Given the description of an element on the screen output the (x, y) to click on. 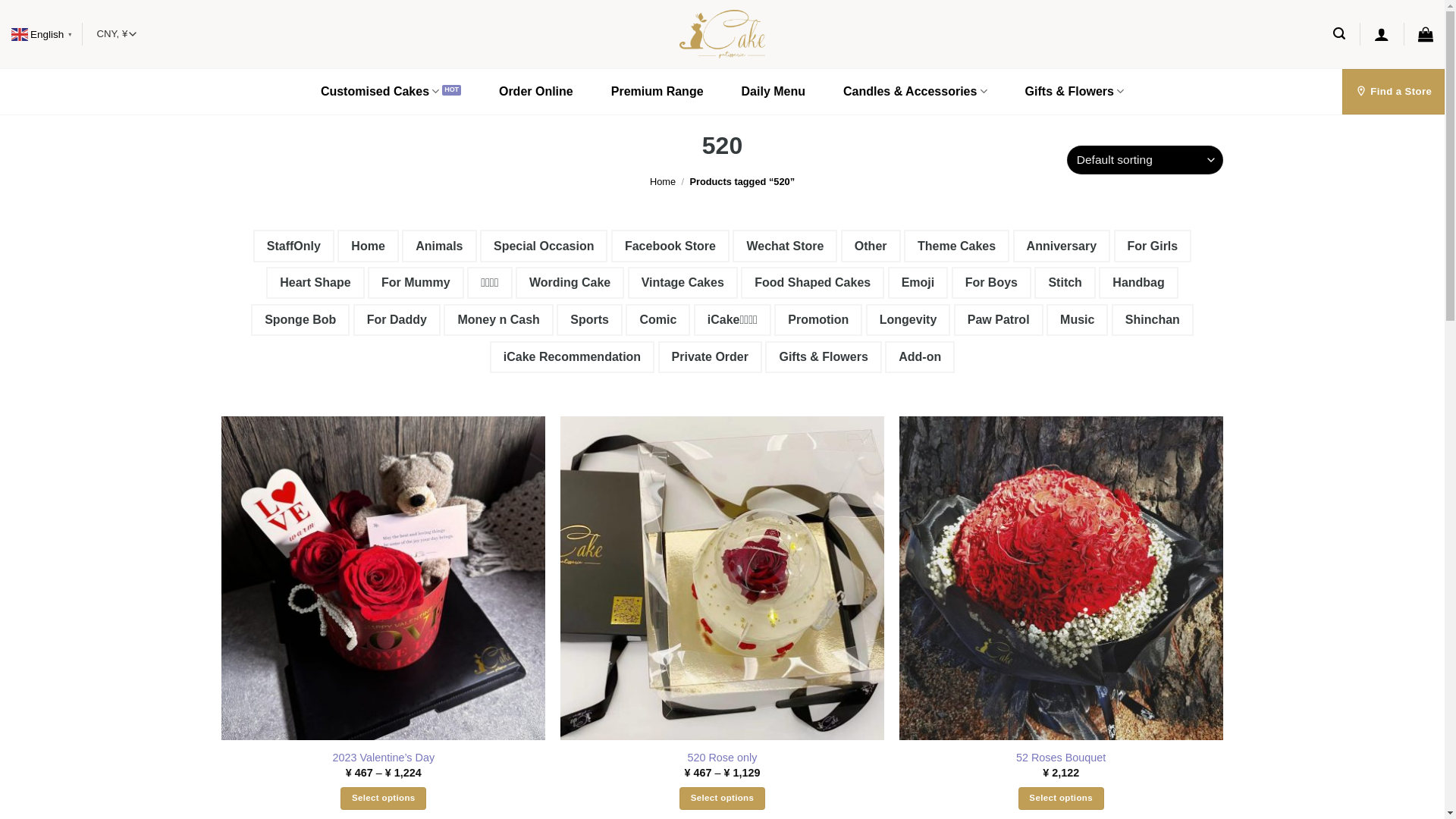
Wording Cake Element type: text (569, 282)
Select options Element type: text (722, 798)
Private Order Element type: text (710, 357)
Promotion Element type: text (818, 319)
Order Online Element type: text (535, 91)
Facebook Store Element type: text (670, 245)
Music Element type: text (1076, 319)
Candles & Accessories Element type: text (915, 91)
For Boys Element type: text (991, 282)
Premium Range Element type: text (657, 91)
Handbag Element type: text (1137, 282)
Paw Patrol Element type: text (998, 319)
Heart Shape Element type: text (315, 282)
For Girls Element type: text (1152, 245)
Skip to content Element type: text (0, 0)
Stitch Element type: text (1064, 282)
Home Element type: text (367, 245)
Cart Element type: hover (1425, 33)
Gifts & Flowers Element type: text (823, 357)
For Daddy Element type: text (396, 319)
Animals Element type: text (438, 245)
Add-on Element type: text (919, 357)
Longevity Element type: text (908, 319)
Wechat Store Element type: text (784, 245)
Gifts & Flowers Element type: text (1074, 91)
StaffOnly Element type: text (293, 245)
Select options Element type: text (1061, 798)
Vintage Cakes Element type: text (682, 282)
52 Roses Bouquet Element type: text (1060, 757)
Customised Cakes Element type: text (390, 91)
Special Occasion Element type: text (544, 245)
Select options Element type: text (383, 798)
Other Element type: text (870, 245)
Food Shaped Cakes Element type: text (812, 282)
Anniversary Element type: text (1061, 245)
520 Rose only Element type: text (721, 757)
location_on Find a Store Element type: text (1393, 91)
iCake Recommendation Element type: text (571, 357)
Home Element type: text (662, 181)
Shinchan Element type: text (1152, 319)
Daily Menu Element type: text (773, 91)
Sports Element type: text (589, 319)
Theme Cakes Element type: text (956, 245)
Comic Element type: text (657, 319)
For Mummy Element type: text (415, 282)
Money n Cash Element type: text (497, 319)
Sponge Bob Element type: text (300, 319)
Emoji Element type: text (918, 282)
